Given the description of an element on the screen output the (x, y) to click on. 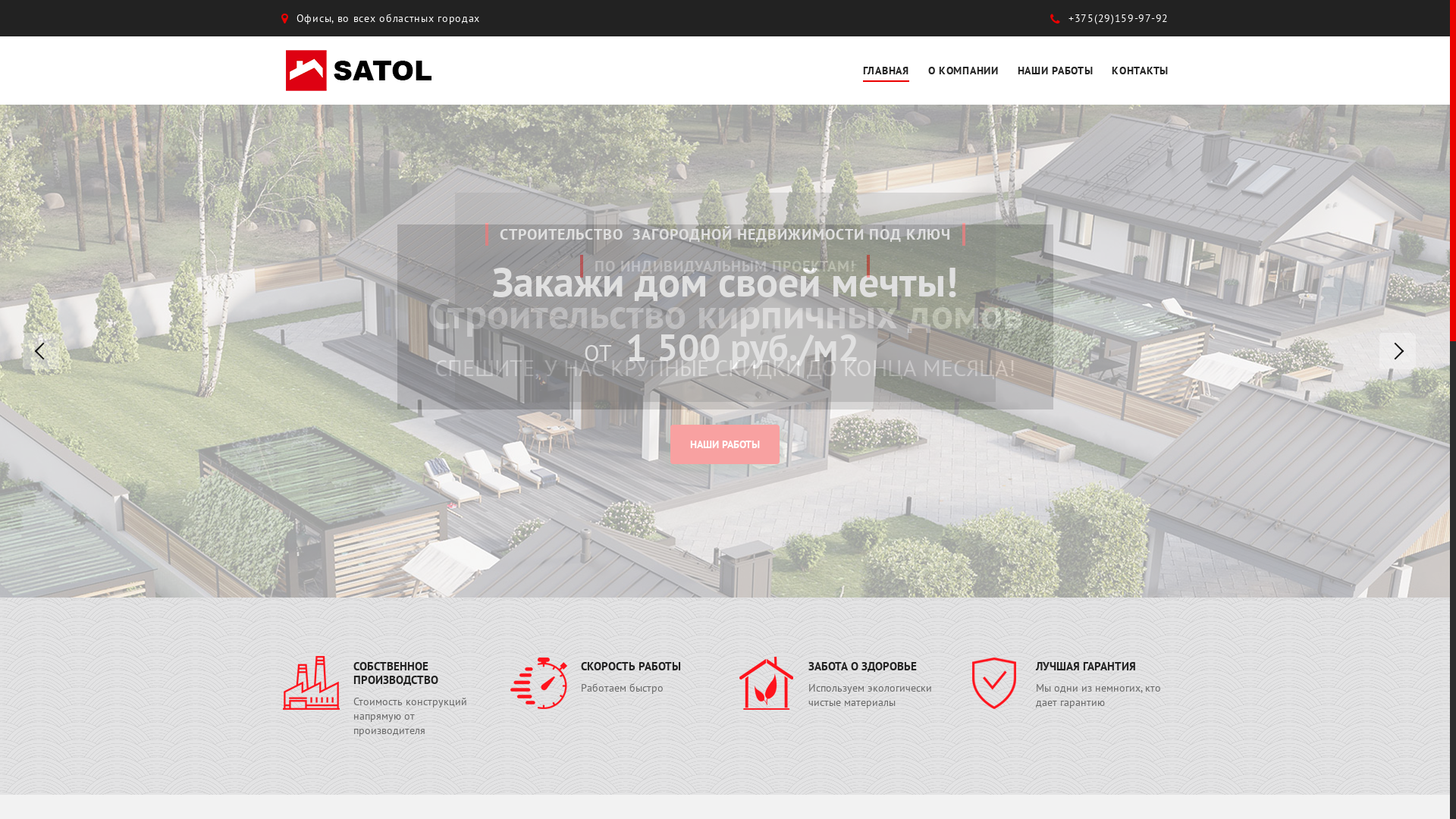
Next Element type: text (1397, 350)
+375(29)159-97-92 Element type: text (1109, 18)
Previous Element type: text (40, 350)
